Given the description of an element on the screen output the (x, y) to click on. 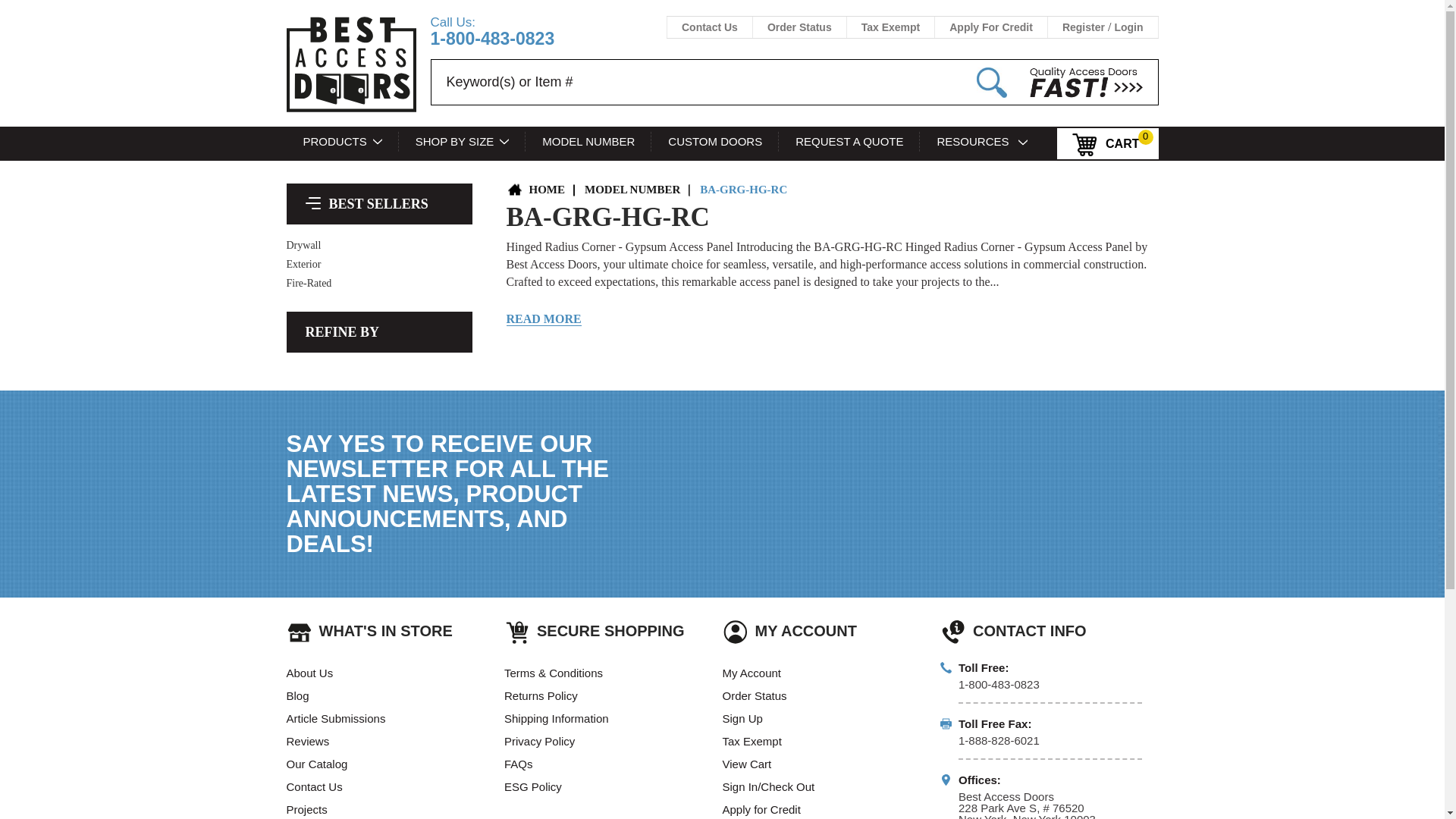
Order Status (799, 27)
Apply For Credit (990, 27)
Tax Exempt (890, 27)
Contact Us (709, 27)
Tax Exempt (890, 27)
Login (1127, 27)
1-800-483-0823 (492, 38)
Register (1083, 27)
